Given the description of an element on the screen output the (x, y) to click on. 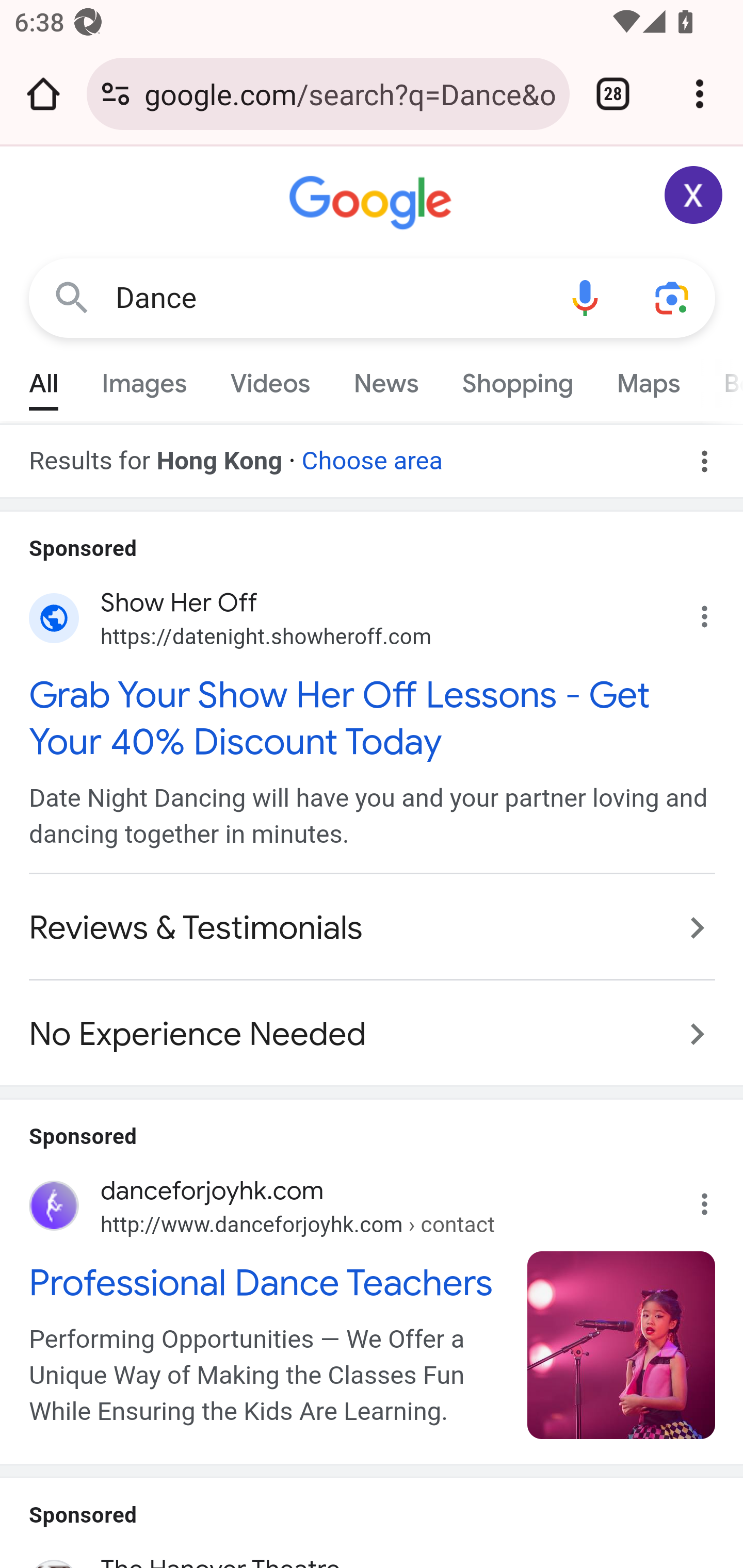
Open the home page (43, 93)
Connection is secure (115, 93)
Switch or close tabs (612, 93)
Customize and control Google Chrome (699, 93)
Google (372, 203)
Google Account: Xiaoran (zxrappiumtest@gmail.com) (694, 195)
Google Search (71, 296)
Search using your camera or photos (672, 296)
Dance (328, 297)
Images (144, 378)
Videos (270, 378)
News (385, 378)
Shopping (516, 378)
Maps (647, 378)
Choose area (371, 453)
Why this ad? (714, 611)
Reviews & Testimonials (372, 927)
No Experience Needed (372, 1023)
Why this ad? (714, 1199)
Image from danceforjoyhk.com (621, 1344)
Professional Dance Teachers (266, 1281)
